Given the description of an element on the screen output the (x, y) to click on. 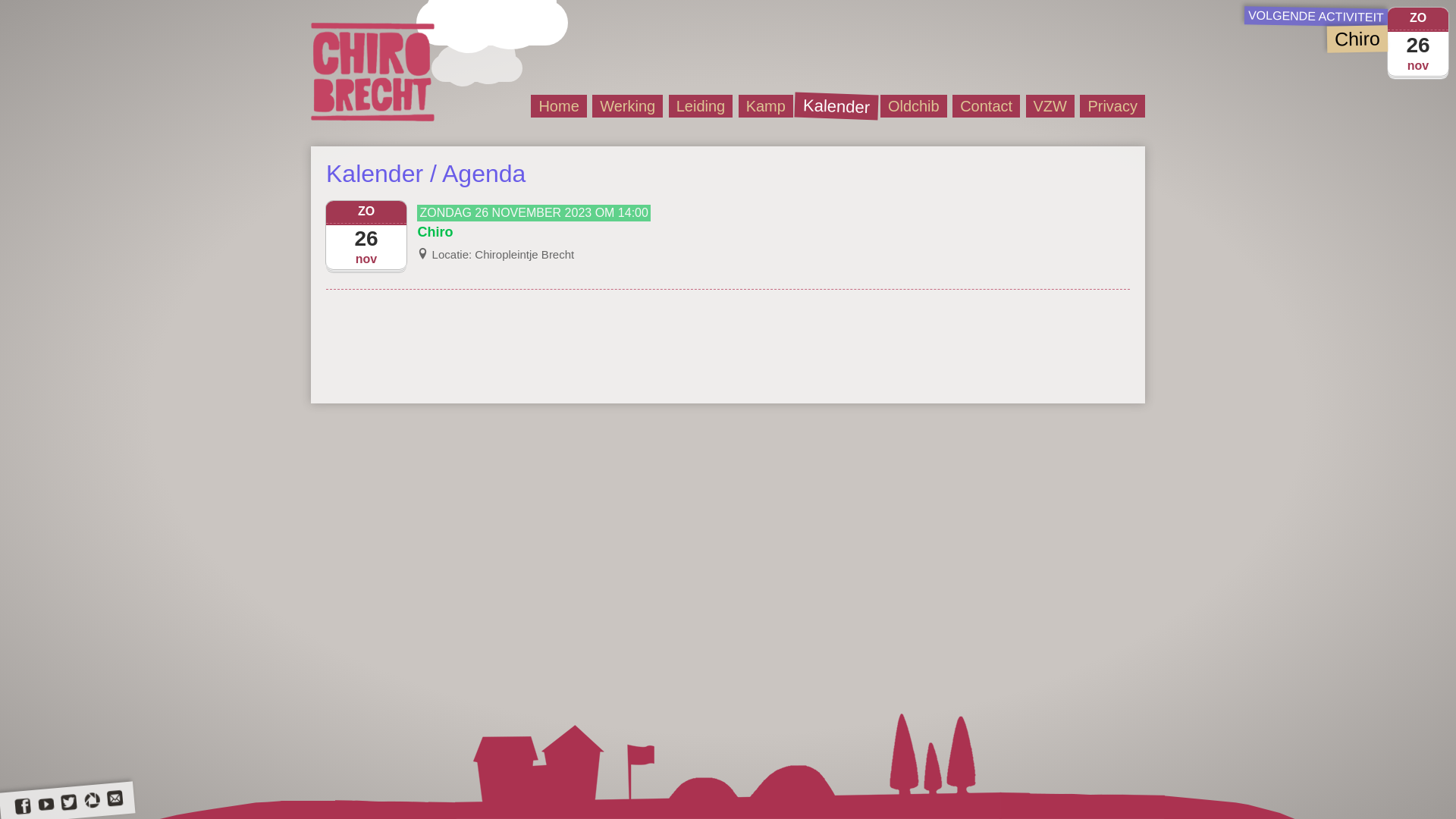
Chiro Brecht op Twitter Element type: hover (67, 802)
Leiding Element type: text (700, 105)
VZW Element type: text (1050, 105)
Chiro Brecht op Facebook Element type: hover (21, 806)
nov
ZO
26
VOLGENDE ACTIVITEIT
Chiro Element type: text (1346, 29)
Home Element type: text (558, 105)
Privacy Element type: text (1112, 105)
Kalender Element type: text (832, 103)
Stuur ons een e-mail Element type: hover (114, 798)
Chiro Brecht op Picasa Element type: hover (91, 800)
Oldchib Element type: text (913, 105)
Kamp Element type: text (765, 105)
Chiro Brecht op YouTube Element type: hover (45, 805)
Werking Element type: text (627, 105)
Contact Element type: text (985, 105)
